Given the description of an element on the screen output the (x, y) to click on. 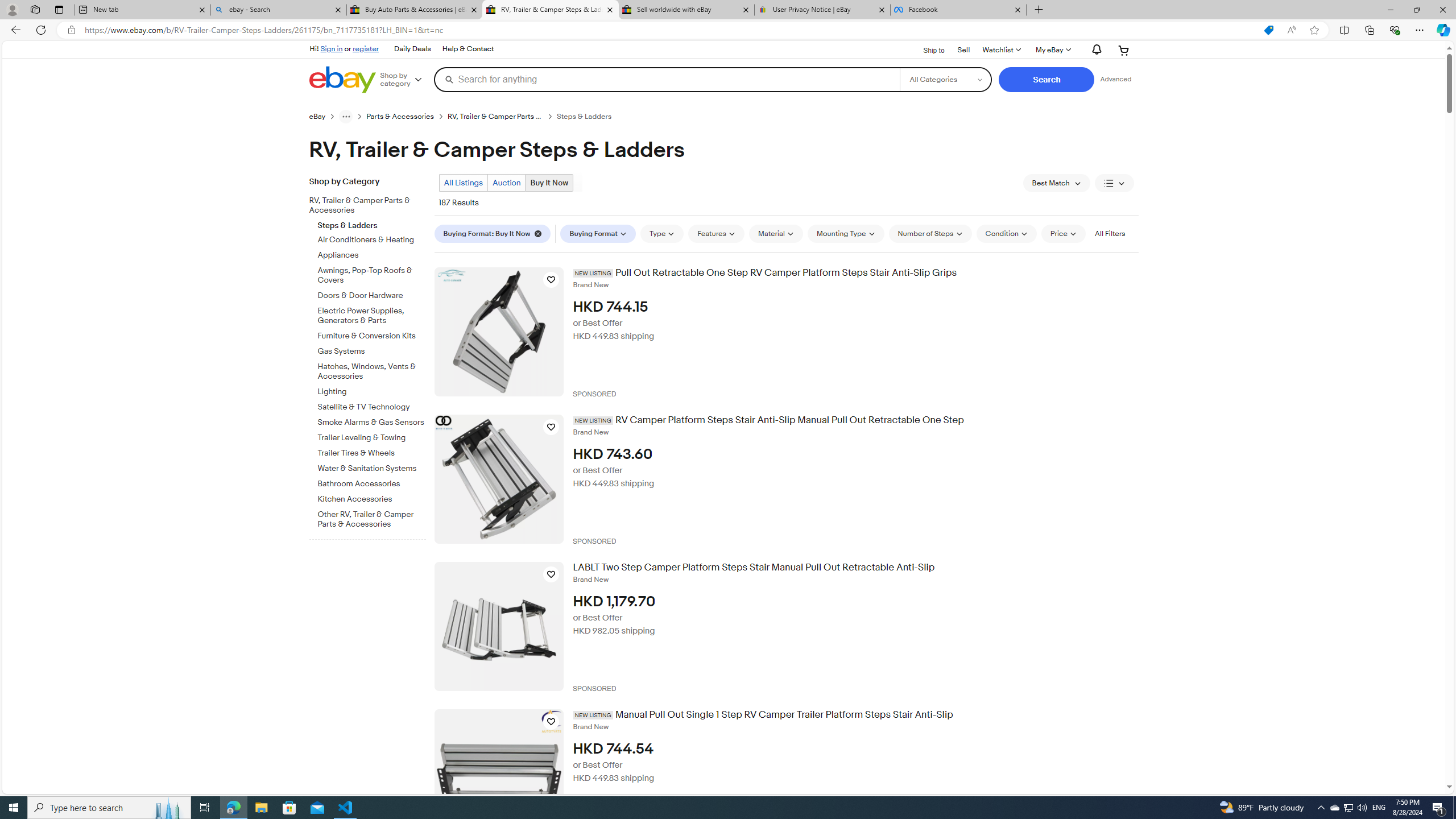
Features (716, 233)
Buy Auto Parts & Accessories | eBay (414, 9)
Bathroom Accessories (371, 481)
Auction (506, 182)
Lighting (371, 391)
